Given the description of an element on the screen output the (x, y) to click on. 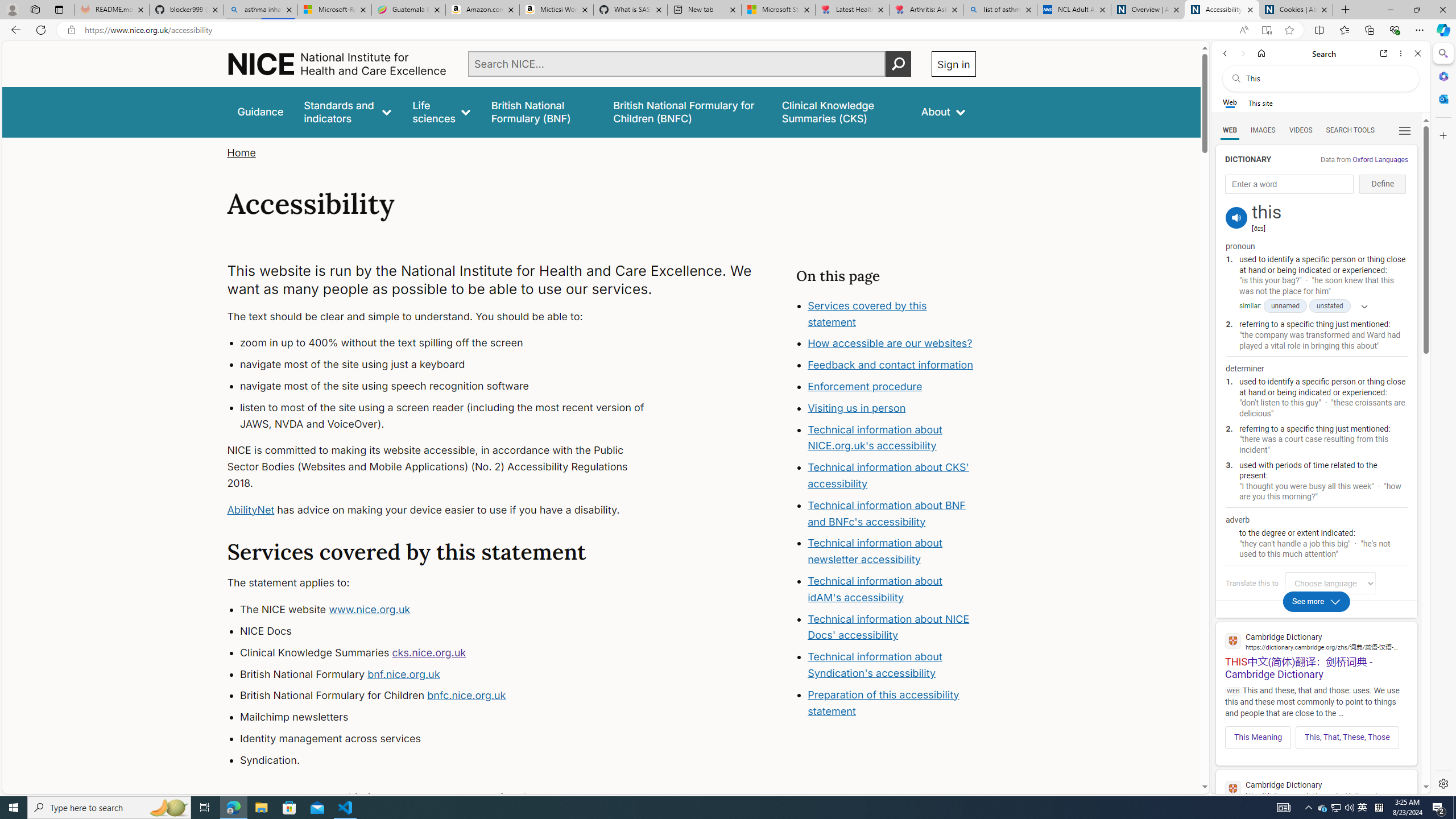
Sign in (952, 63)
British National Formulary for Children bnfc.nice.org.uk (452, 695)
Mailchimp newsletters (452, 717)
Life sciences (440, 111)
VIDEOS (1300, 130)
Translate this to Choose language (1329, 582)
